Given the description of an element on the screen output the (x, y) to click on. 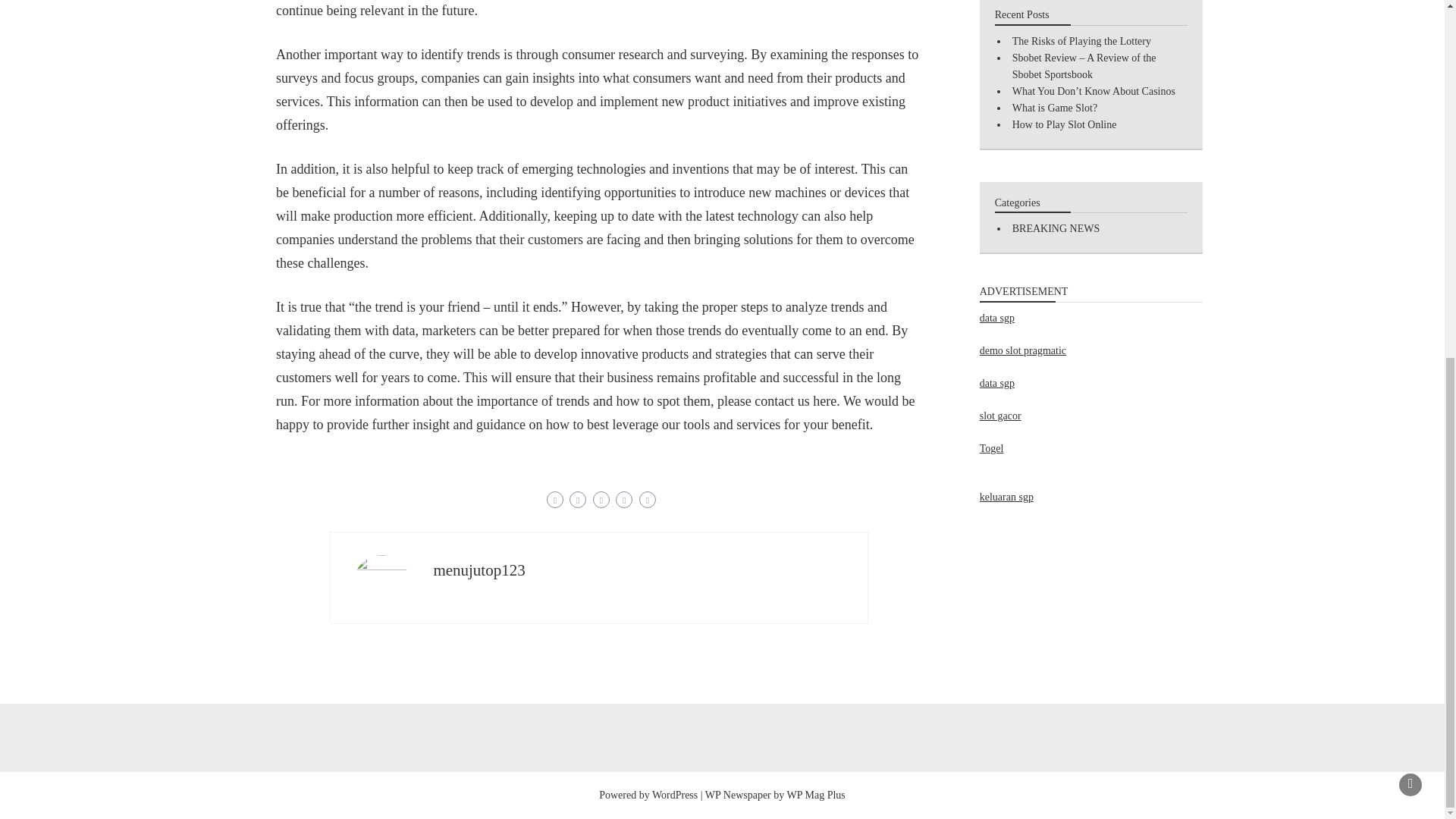
menujutop123 (478, 570)
